Given the description of an element on the screen output the (x, y) to click on. 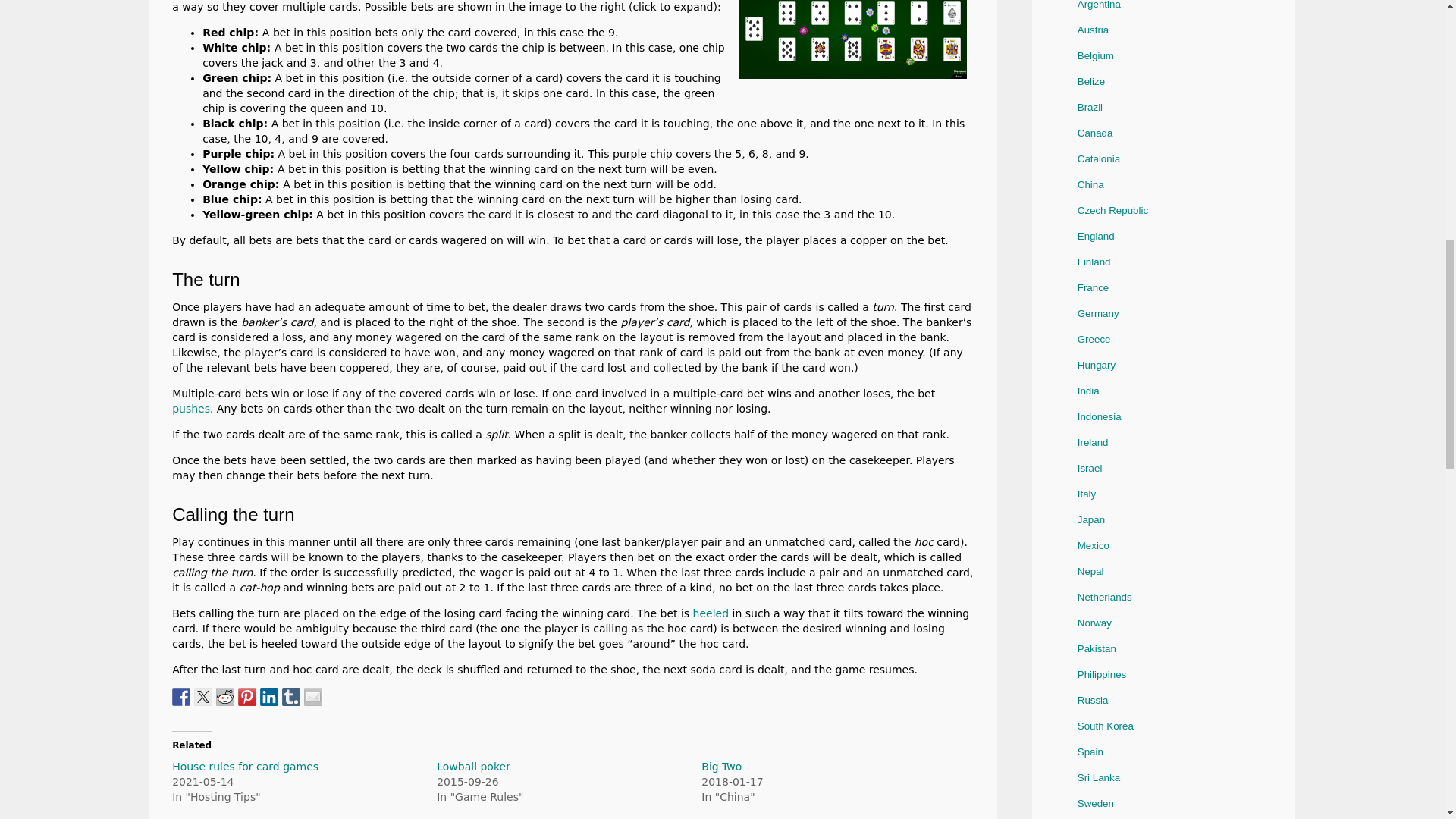
Share on Reddit (224, 696)
Share on tumblr (290, 696)
pushes (190, 408)
Share on Twitter (202, 696)
Lowball poker (473, 766)
Share on Linkedin (269, 696)
Share by email (312, 696)
House rules for card games (244, 766)
Big Two (721, 766)
Pin it with Pinterest (247, 696)
Lowball poker (473, 766)
heeled (711, 613)
House rules for card games (244, 766)
Share on Facebook (180, 696)
